Given the description of an element on the screen output the (x, y) to click on. 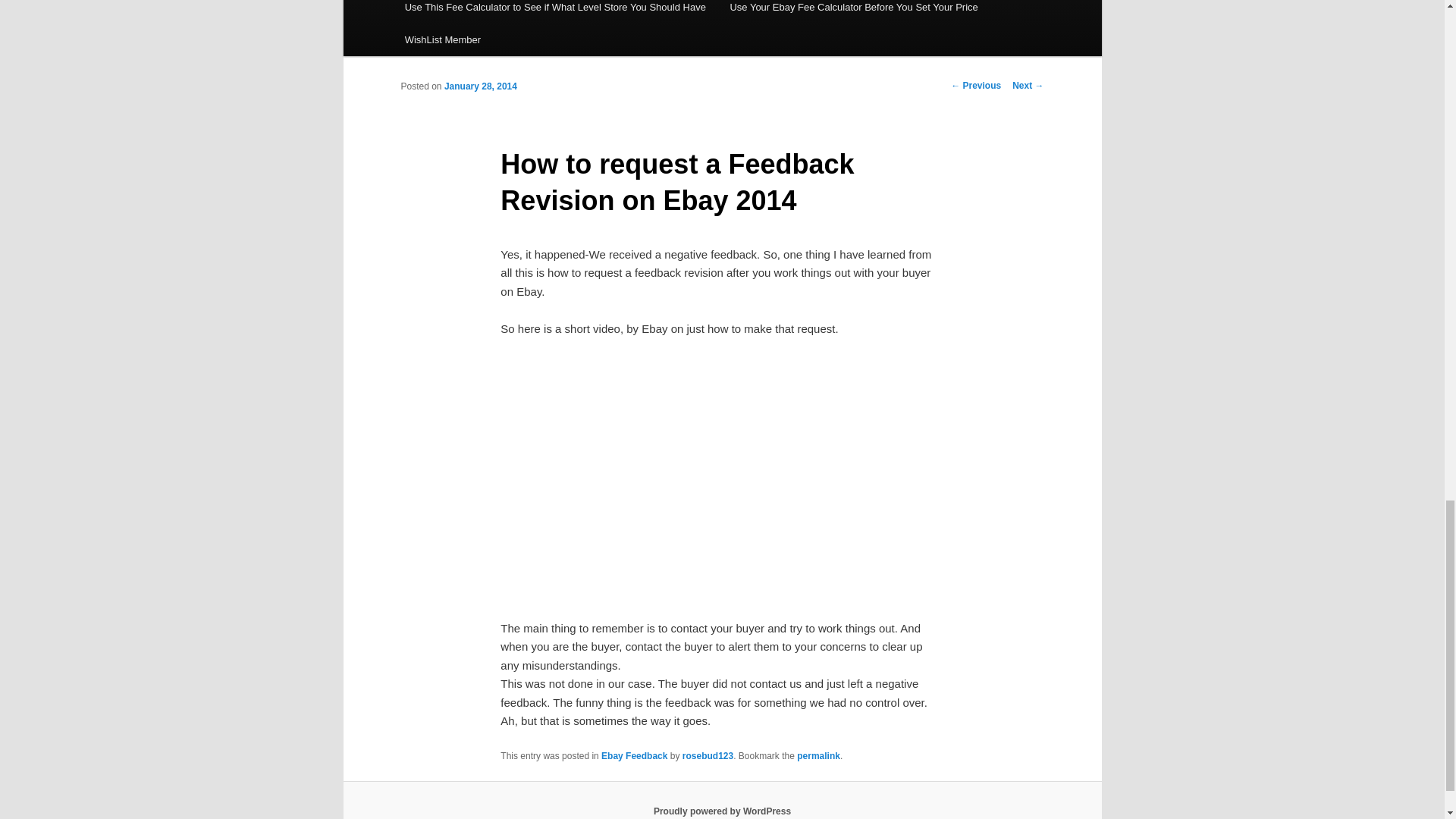
10:13 pm (480, 86)
Permalink to How to request a Feedback Revision on Ebay 2014 (818, 756)
January 28, 2014 (480, 86)
rosebud123 (707, 756)
Use Your Ebay Fee Calculator Before You Set Your Price (853, 11)
Proudly powered by WordPress (721, 810)
WishList Member (443, 39)
permalink (818, 756)
Ebay Feedback (633, 756)
Semantic Personal Publishing Platform (721, 810)
